Given the description of an element on the screen output the (x, y) to click on. 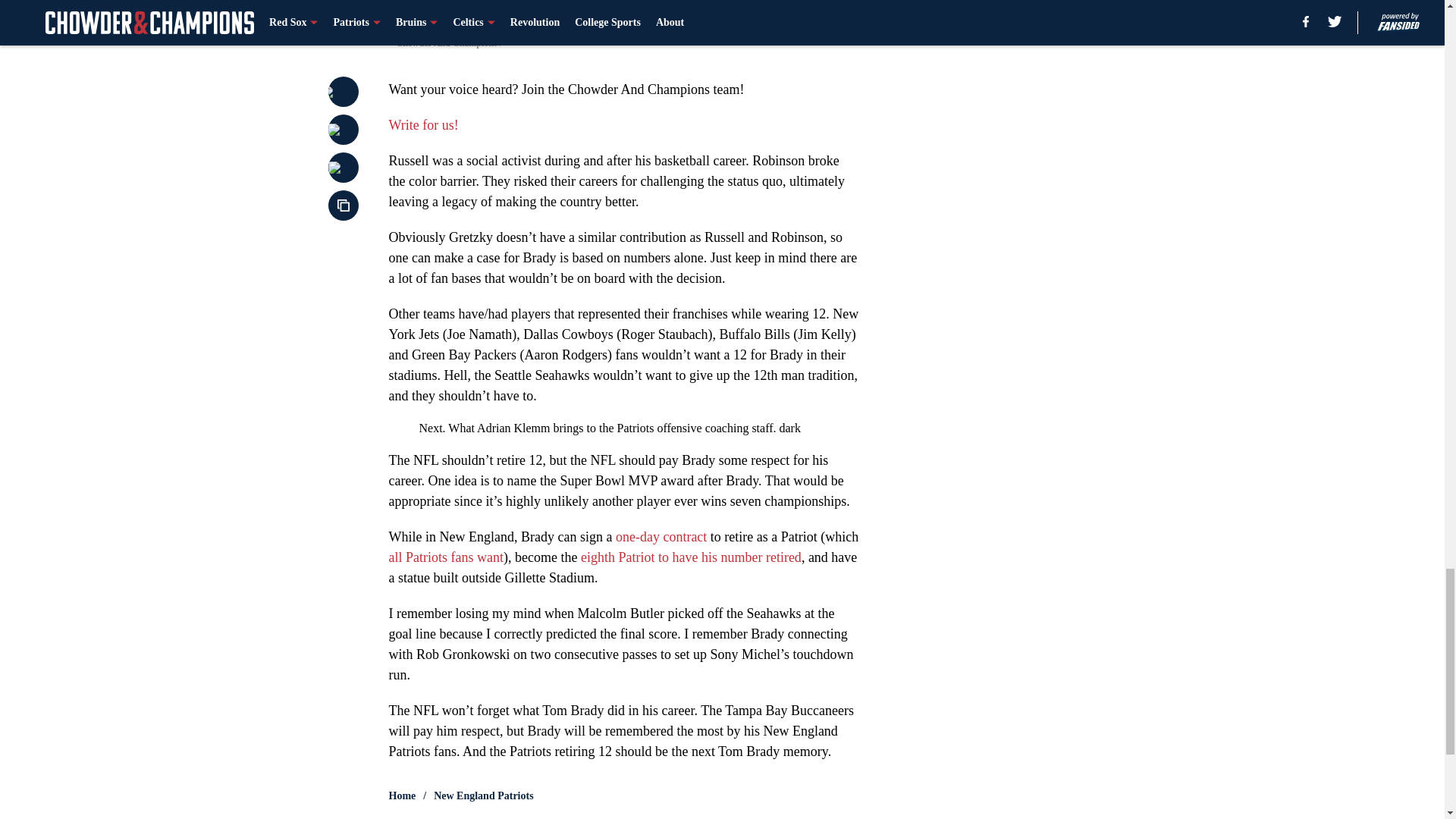
Write for us! (423, 124)
one-day contract (660, 536)
New England Patriots (482, 795)
Home (401, 795)
all Patriots fans want (445, 557)
eighth Patriot to have his number retired (688, 557)
